Given the description of an element on the screen output the (x, y) to click on. 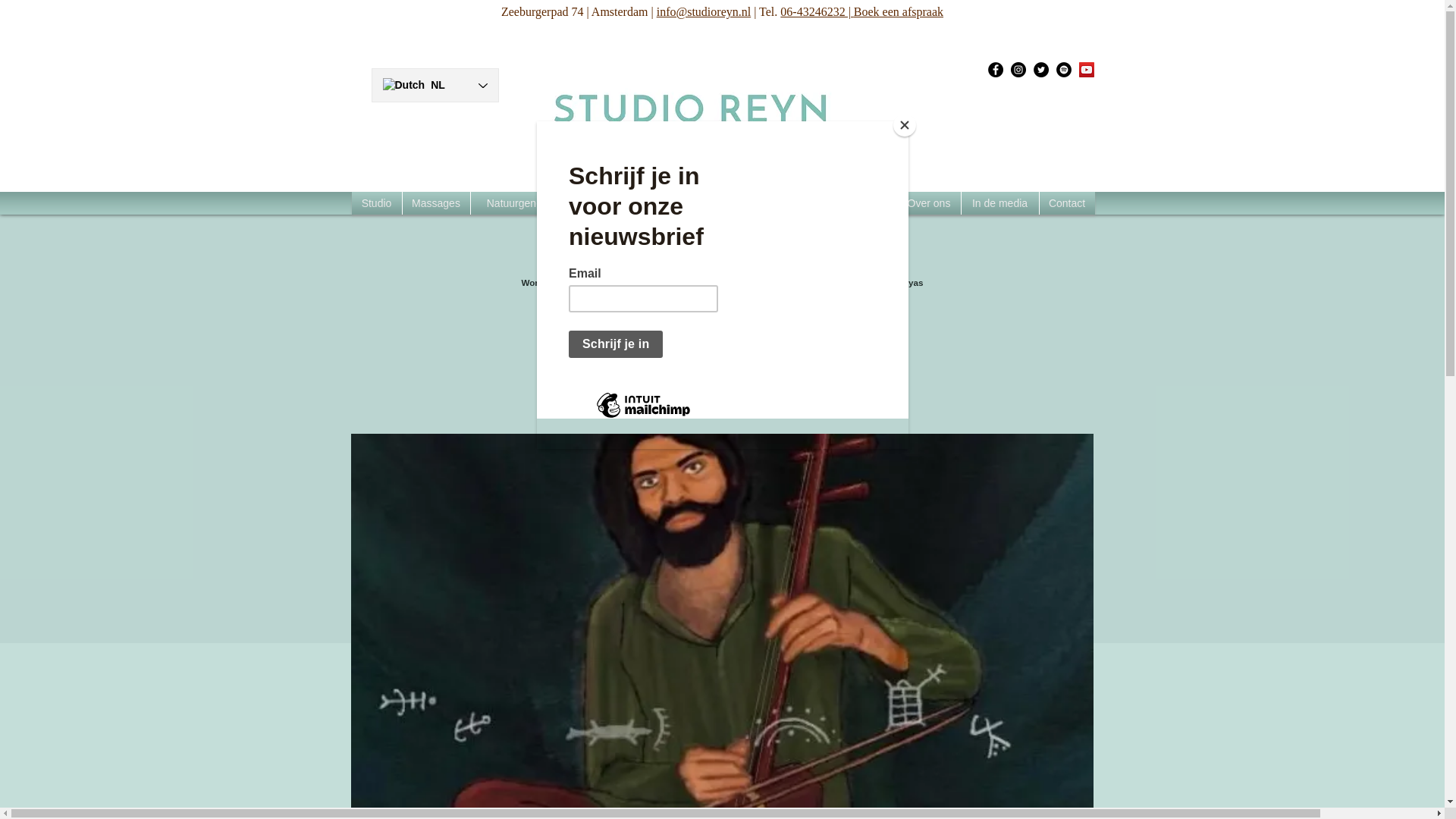
Over ons (929, 202)
Yoga (669, 202)
Natuurgeneeskundige therapie (558, 202)
Cursussen en workshops (824, 202)
Studio (376, 202)
Tarieven (720, 202)
Boek een afspraak (898, 11)
Massages (434, 202)
